Given the description of an element on the screen output the (x, y) to click on. 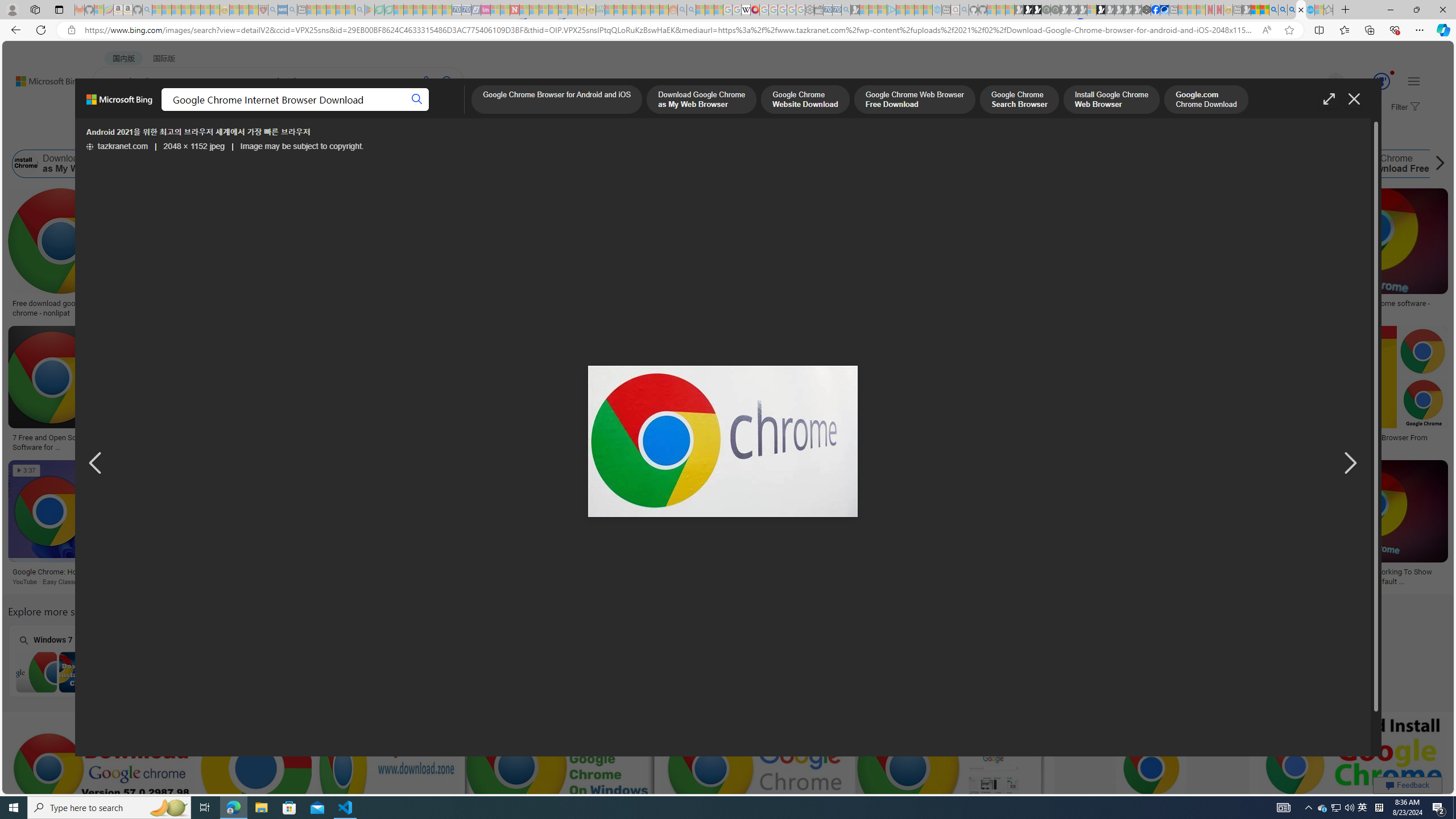
Lambang Chrome (848, 571)
Google Chrome Review | Top Ten Reviews (1103, 437)
How to update google chrome software - angelbapSave (1369, 254)
License (377, 135)
14 Common Myths Debunked By Scientific Facts - Sleeping (533, 9)
AutomationID: rh_meter (1381, 80)
Feedback (1407, 785)
Search (416, 99)
Microsoft Bing, Back to Bing search (118, 104)
